Given the description of an element on the screen output the (x, y) to click on. 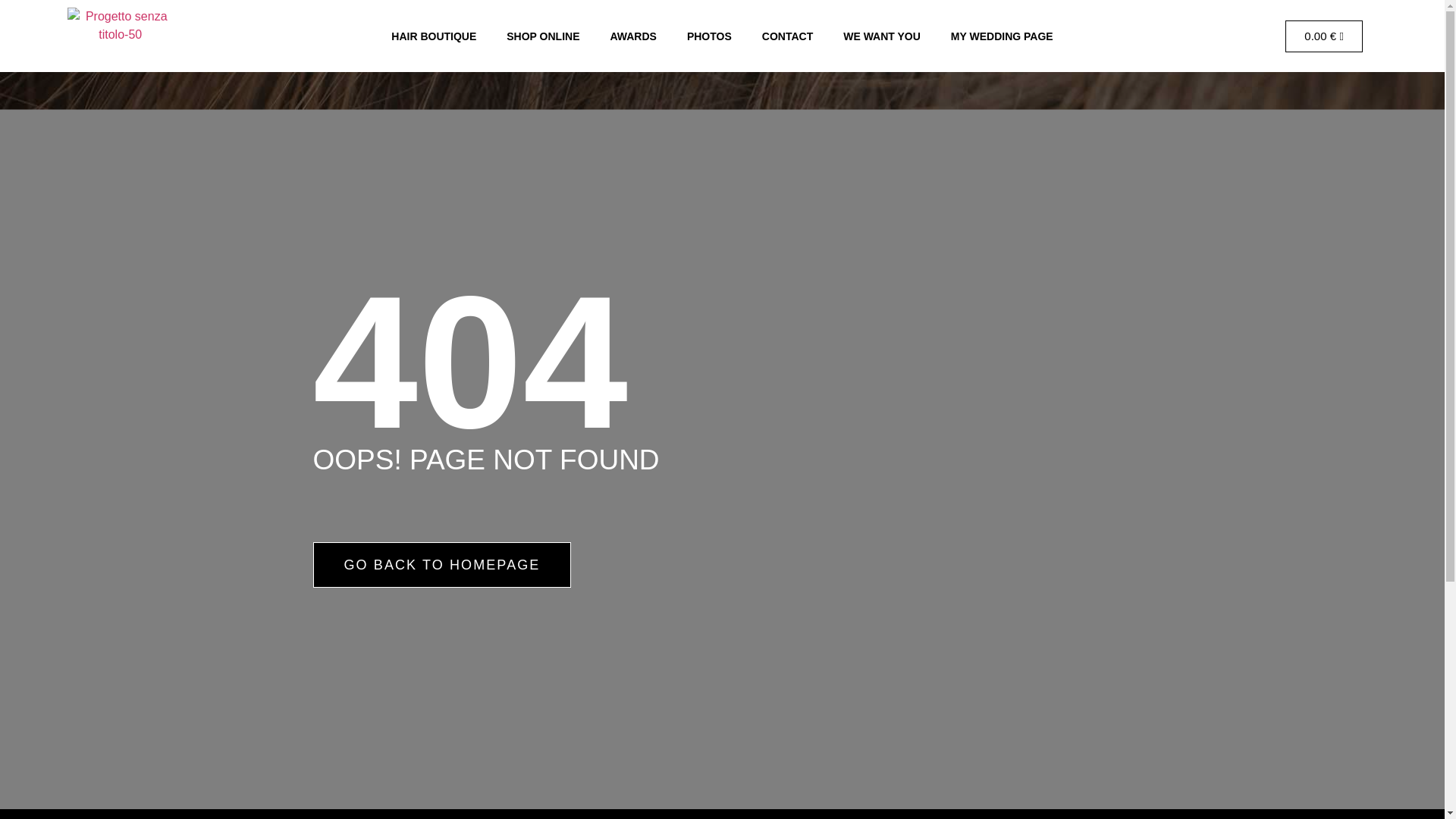
Progetto senza titolo-50 (119, 35)
WE WANT YOU (882, 35)
HAIR BOUTIQUE (433, 35)
GO BACK TO HOMEPAGE (441, 564)
SHOP ONLINE (543, 35)
PHOTOS (708, 35)
AWARDS (632, 35)
MY WEDDING PAGE (1002, 35)
CONTACT (787, 35)
